Given the description of an element on the screen output the (x, y) to click on. 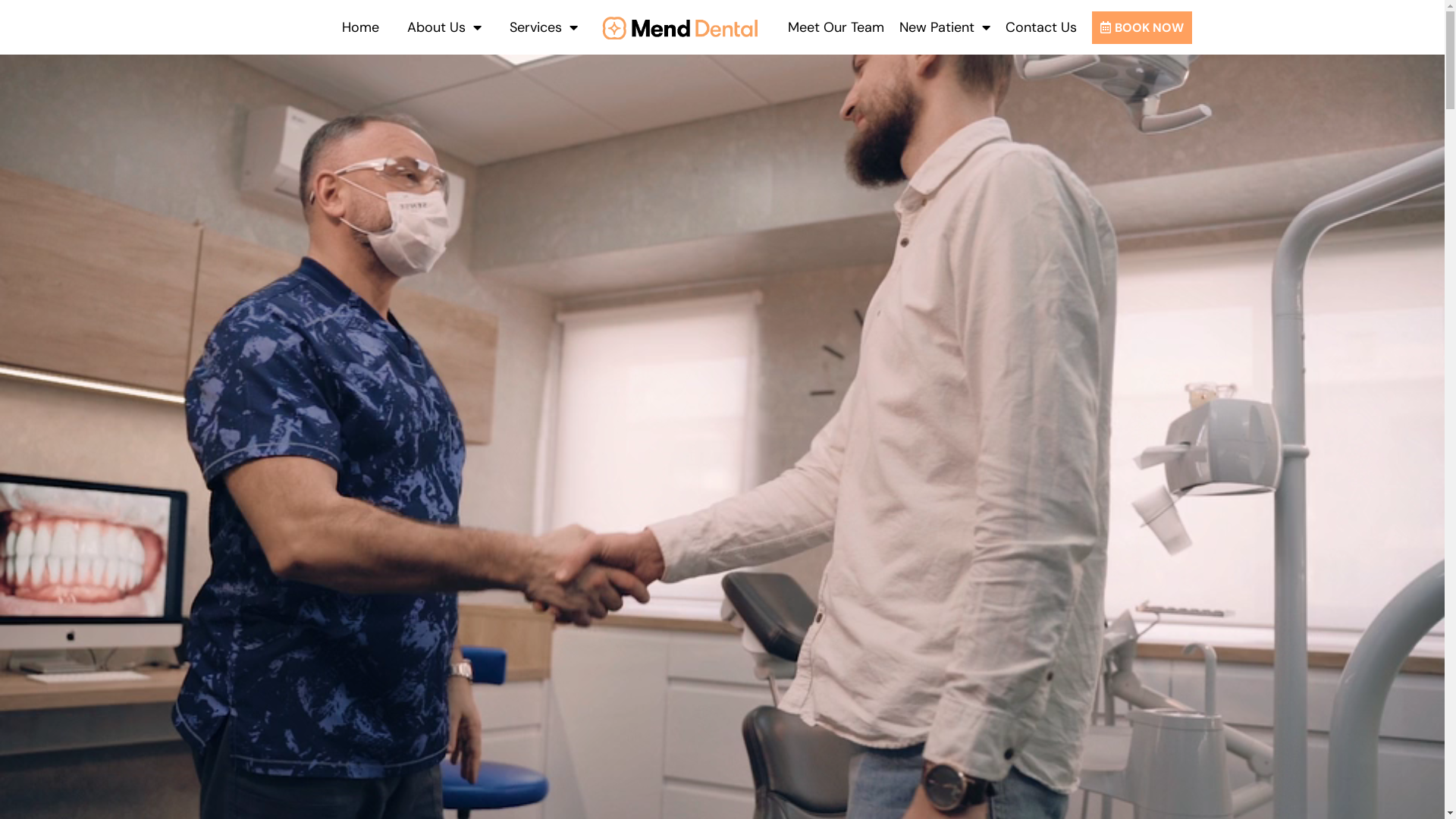
New Patient Element type: text (944, 27)
Home Element type: text (360, 27)
Meet Our Team Element type: text (835, 27)
About Us Element type: text (444, 27)
BOOK NOW Element type: text (1142, 26)
Contact Us Element type: text (1040, 27)
Services Element type: text (543, 27)
